Given the description of an element on the screen output the (x, y) to click on. 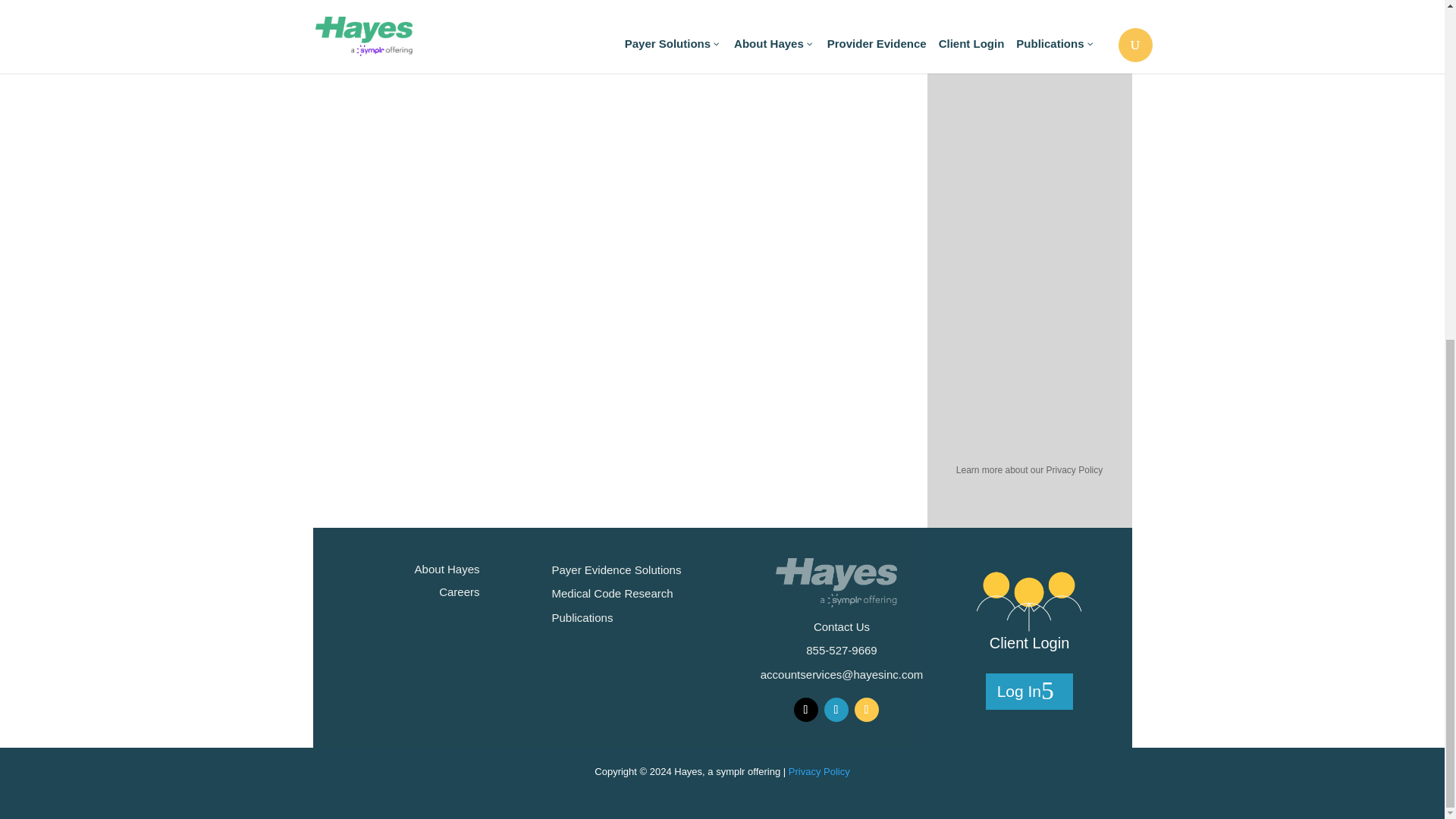
Follow on Twitter (804, 709)
Follow on Facebook (835, 709)
Follow on LinkedIn (865, 709)
